Given the description of an element on the screen output the (x, y) to click on. 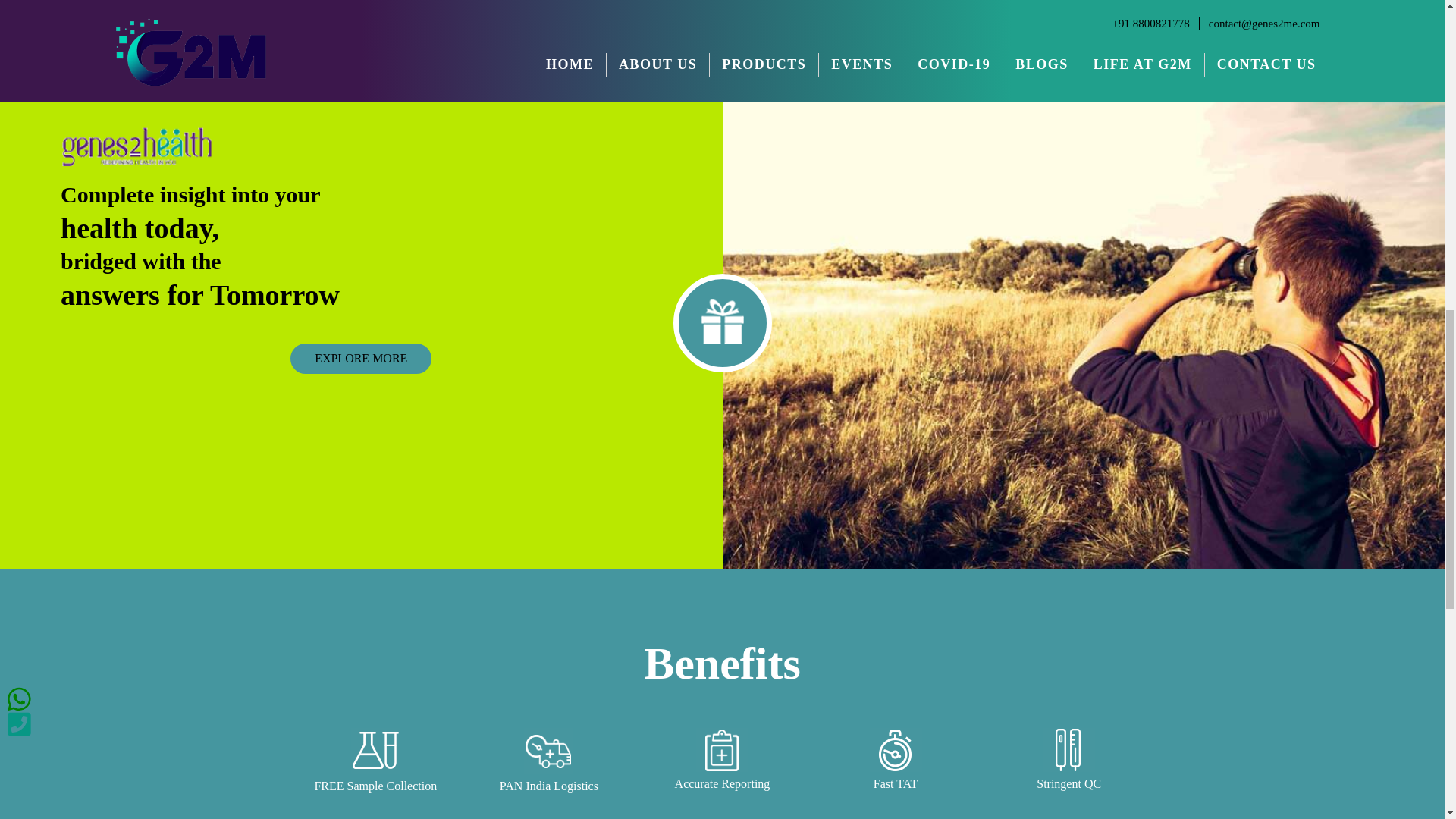
EXPLORE MORE (360, 358)
